Given the description of an element on the screen output the (x, y) to click on. 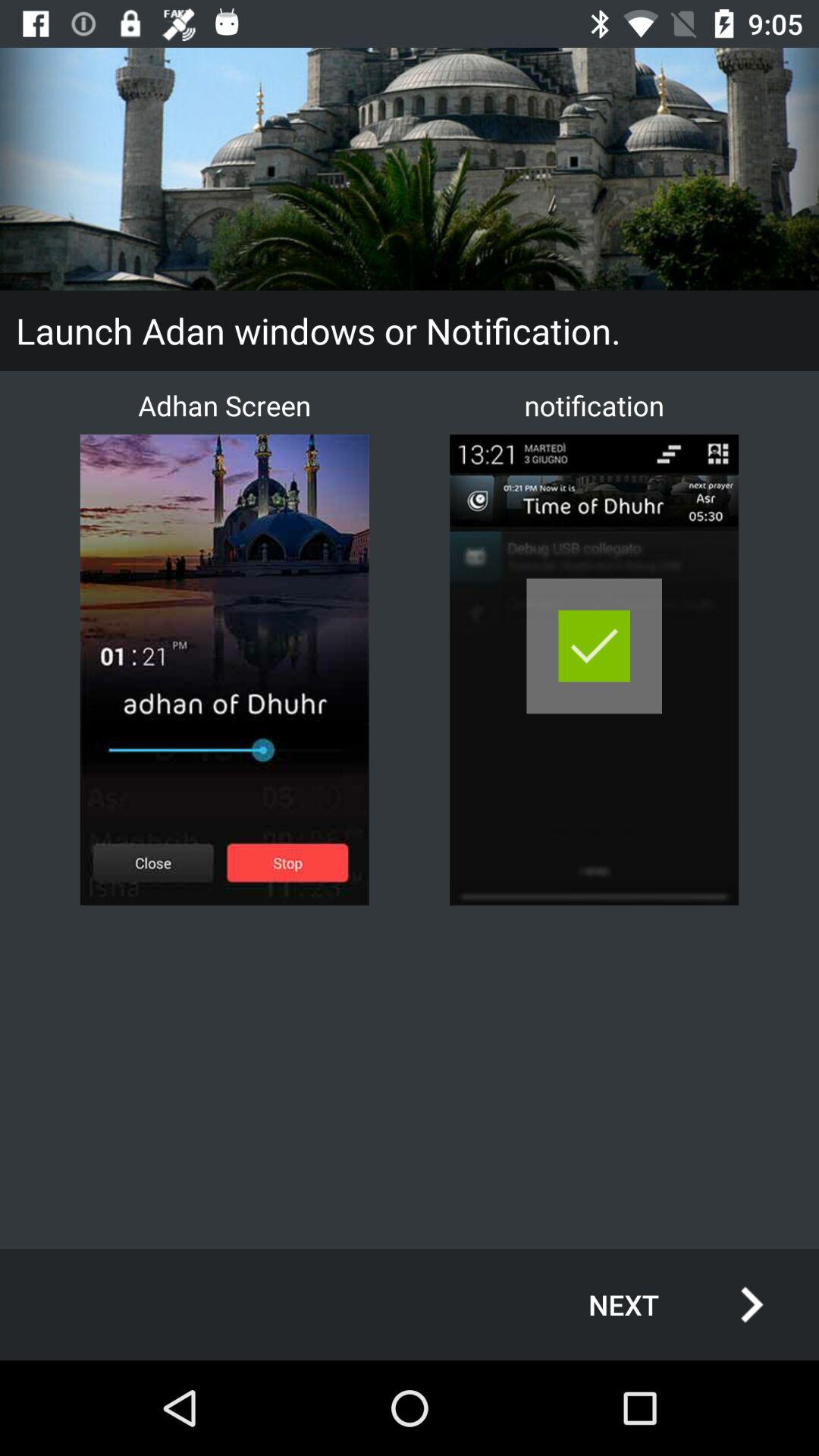
scroll to next icon (659, 1304)
